Given the description of an element on the screen output the (x, y) to click on. 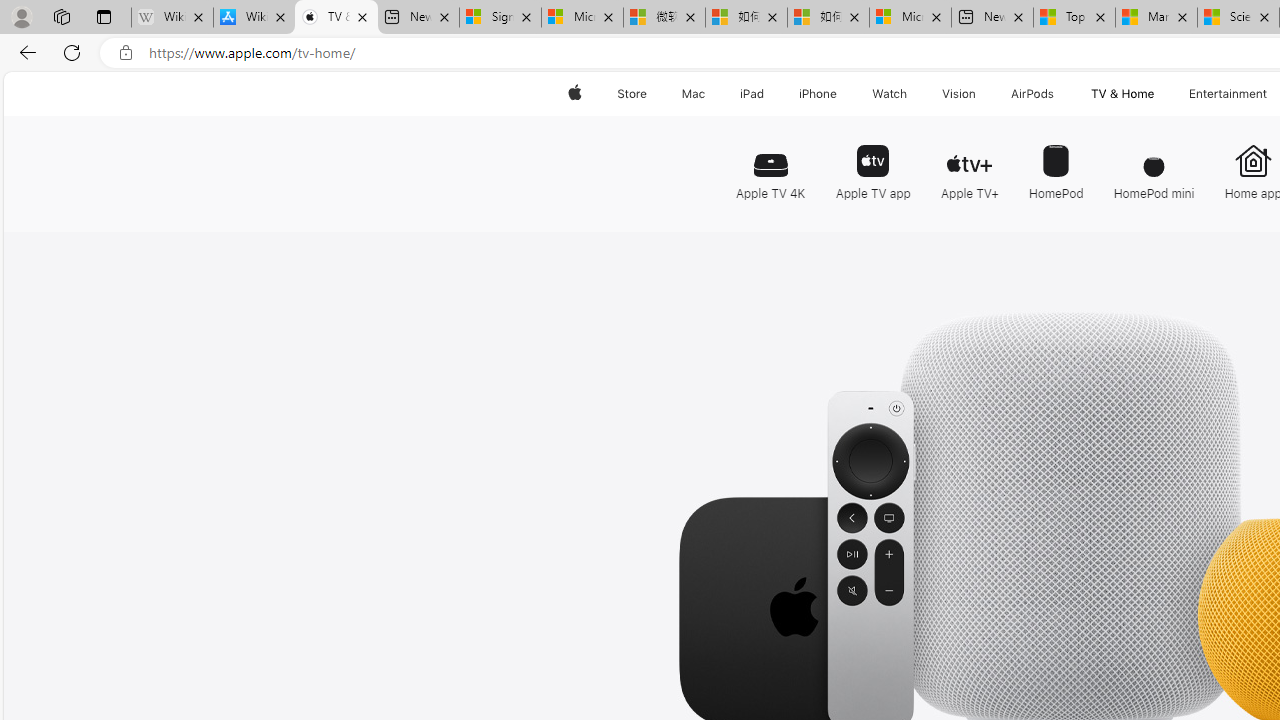
TV & Home (1122, 93)
HomePod (1056, 164)
AirPods (1032, 93)
Vision menu (980, 93)
iPhone (818, 93)
Microsoft account | Account Checkup (910, 17)
Apple (574, 93)
Apple (574, 93)
Store (631, 93)
Apple TV app (872, 164)
Vision (959, 93)
Watch (890, 93)
AirPods menu (1058, 93)
